Given the description of an element on the screen output the (x, y) to click on. 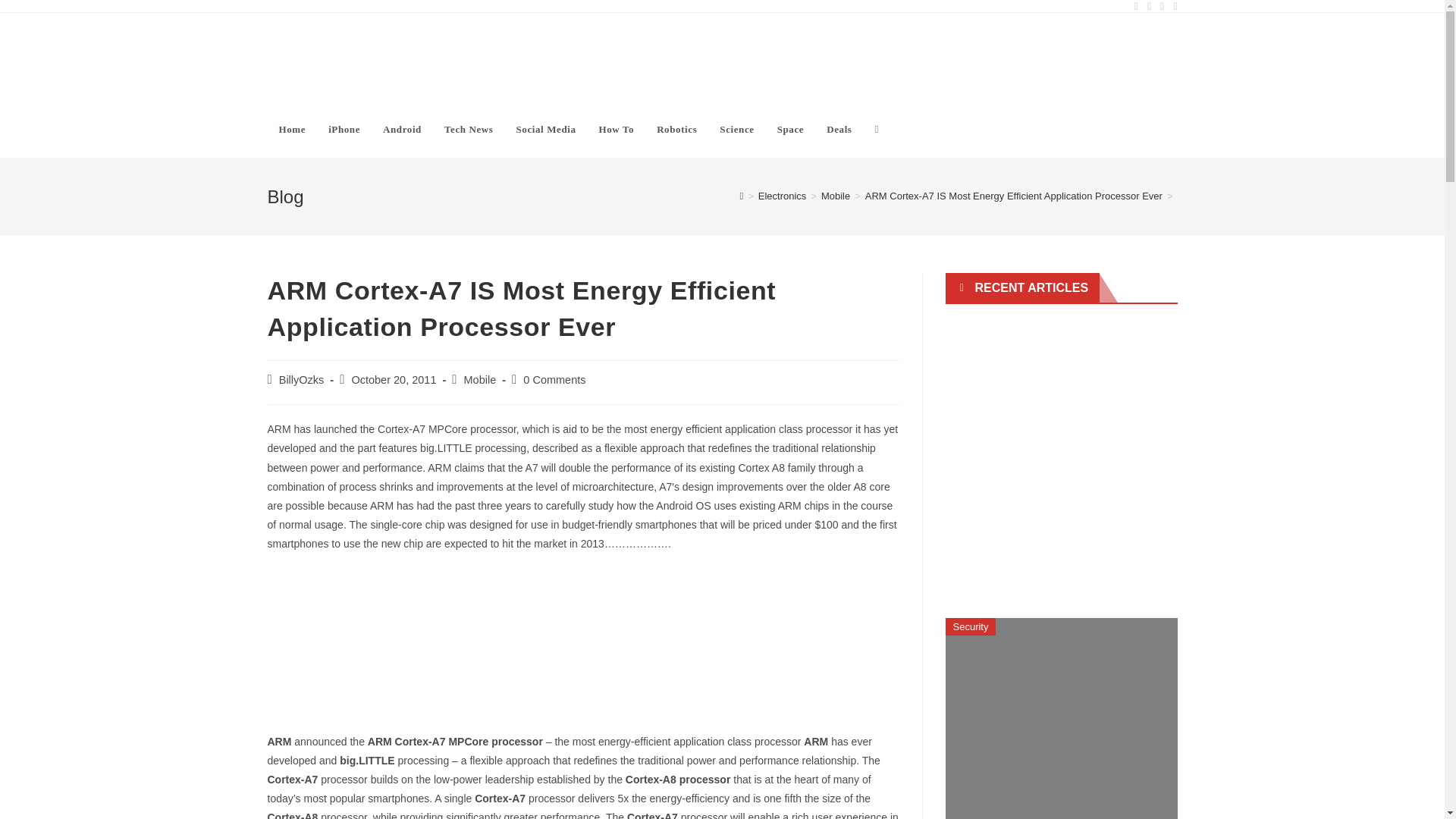
Social Media (544, 129)
How To (617, 129)
Mobile (835, 195)
iPhone (344, 129)
Tech News (468, 129)
Robotics (676, 129)
Space (790, 129)
Home (291, 129)
BillyOzks (301, 379)
